Given the description of an element on the screen output the (x, y) to click on. 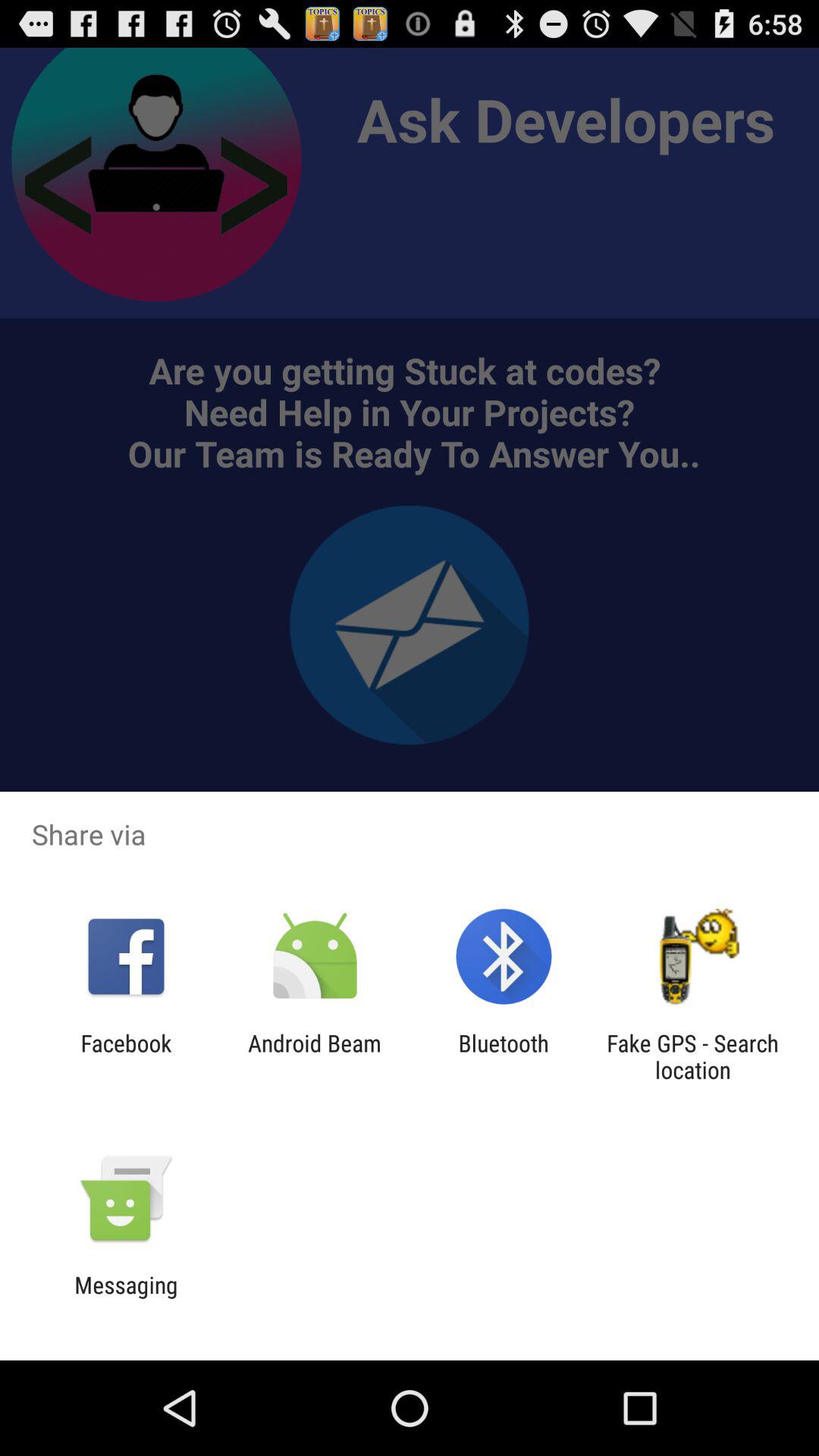
swipe until the facebook icon (125, 1056)
